Given the description of an element on the screen output the (x, y) to click on. 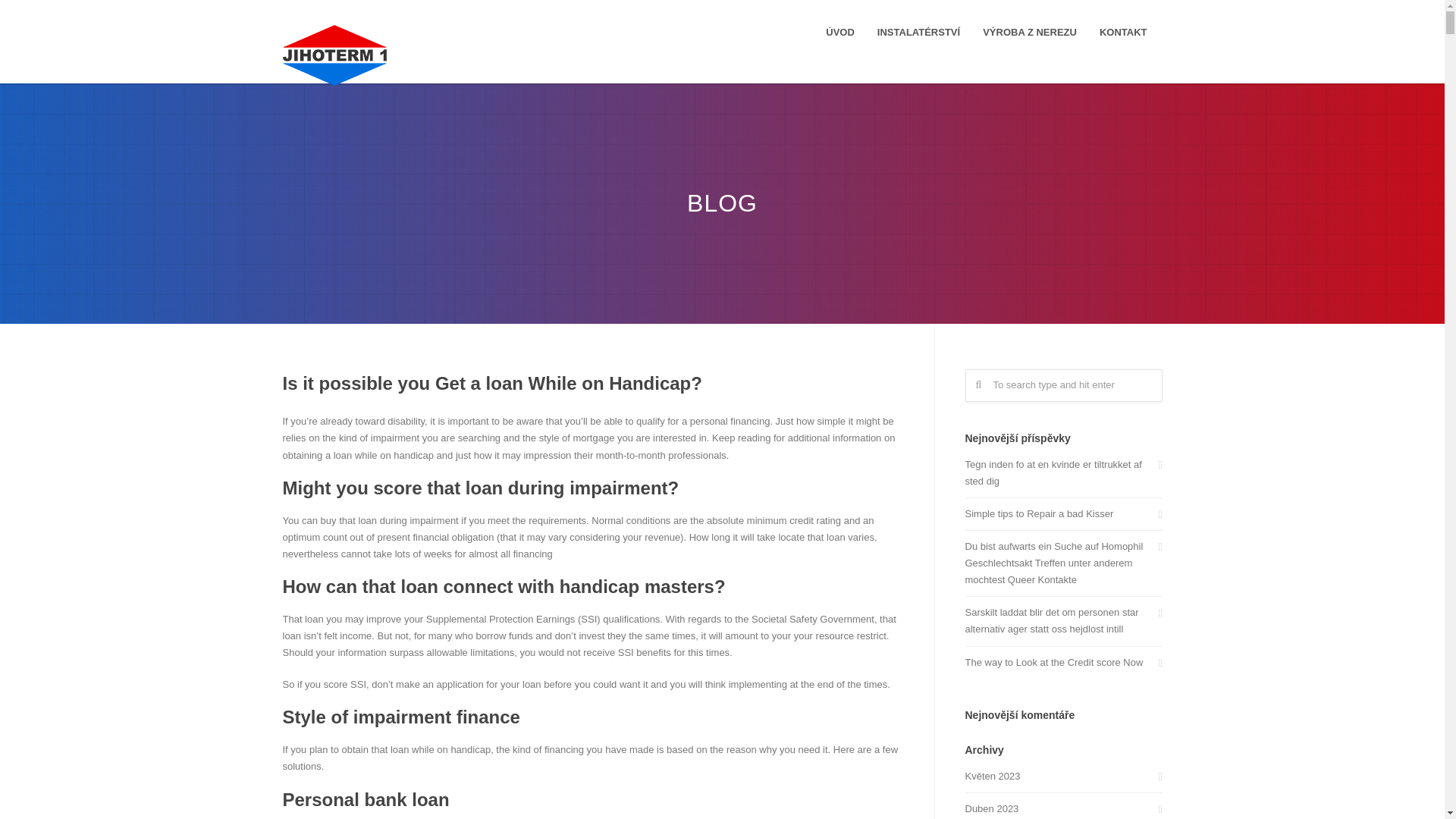
The way to Look at the Credit score Now (1062, 662)
Search (39, 16)
To search type and hit enter (1062, 385)
Duben 2023 (1062, 808)
Is it possible you Get a loan While on Handicap? (491, 383)
Tegn inden fo at en kvinde er tiltrukket af sted dig (1062, 472)
Simple tips to Repair a bad Kisser (1062, 514)
KONTAKT (1122, 32)
